Given the description of an element on the screen output the (x, y) to click on. 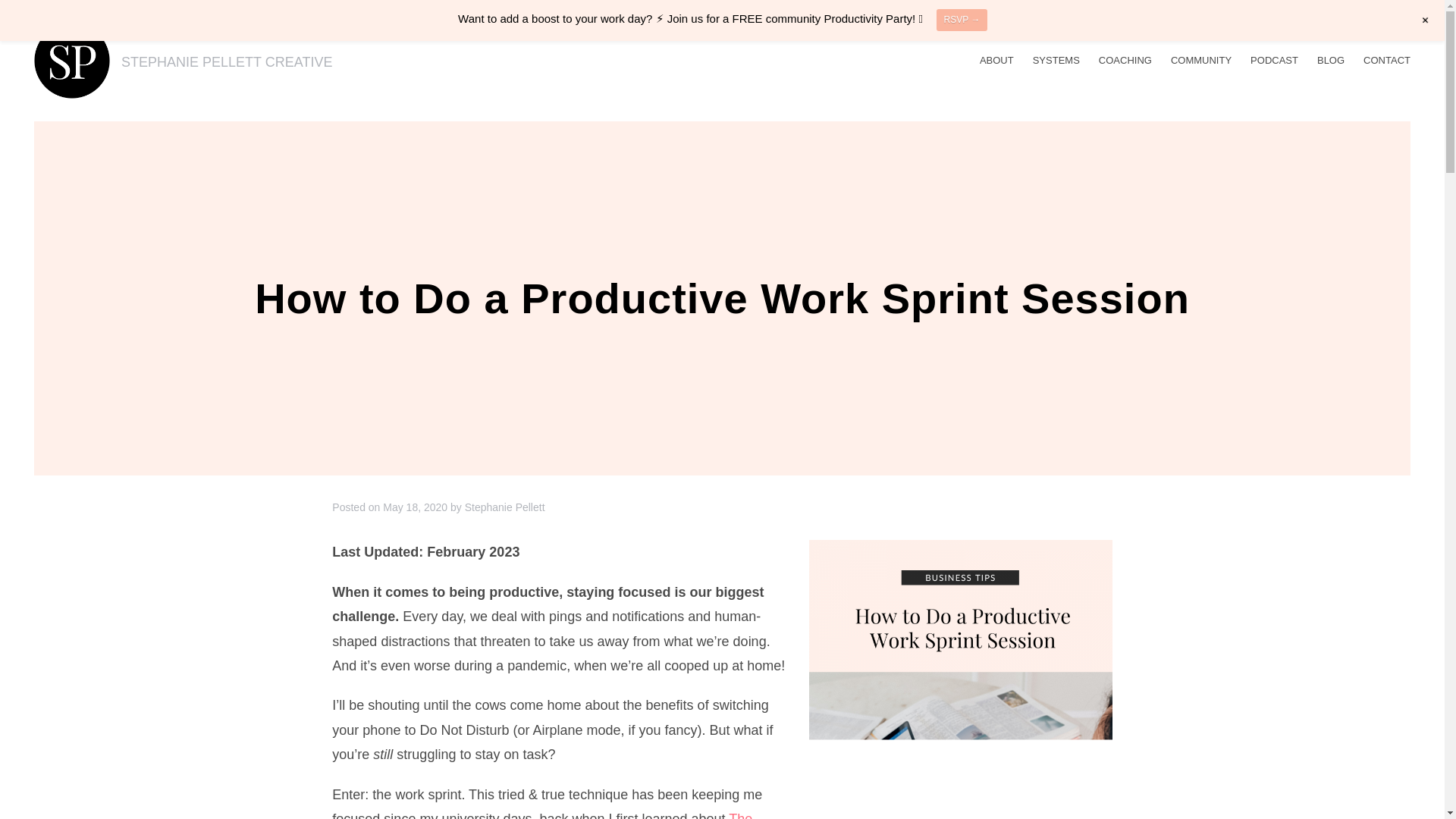
ABOUT (996, 59)
CONTACT (1386, 59)
SYSTEMS (1056, 59)
COACHING (1125, 59)
Stephanie Pellett (504, 507)
BLOG (1330, 59)
PODCAST (1274, 59)
COMMUNITY (1200, 59)
May 18, 2020 (414, 507)
The Pomodoro Method (541, 815)
